Given the description of an element on the screen output the (x, y) to click on. 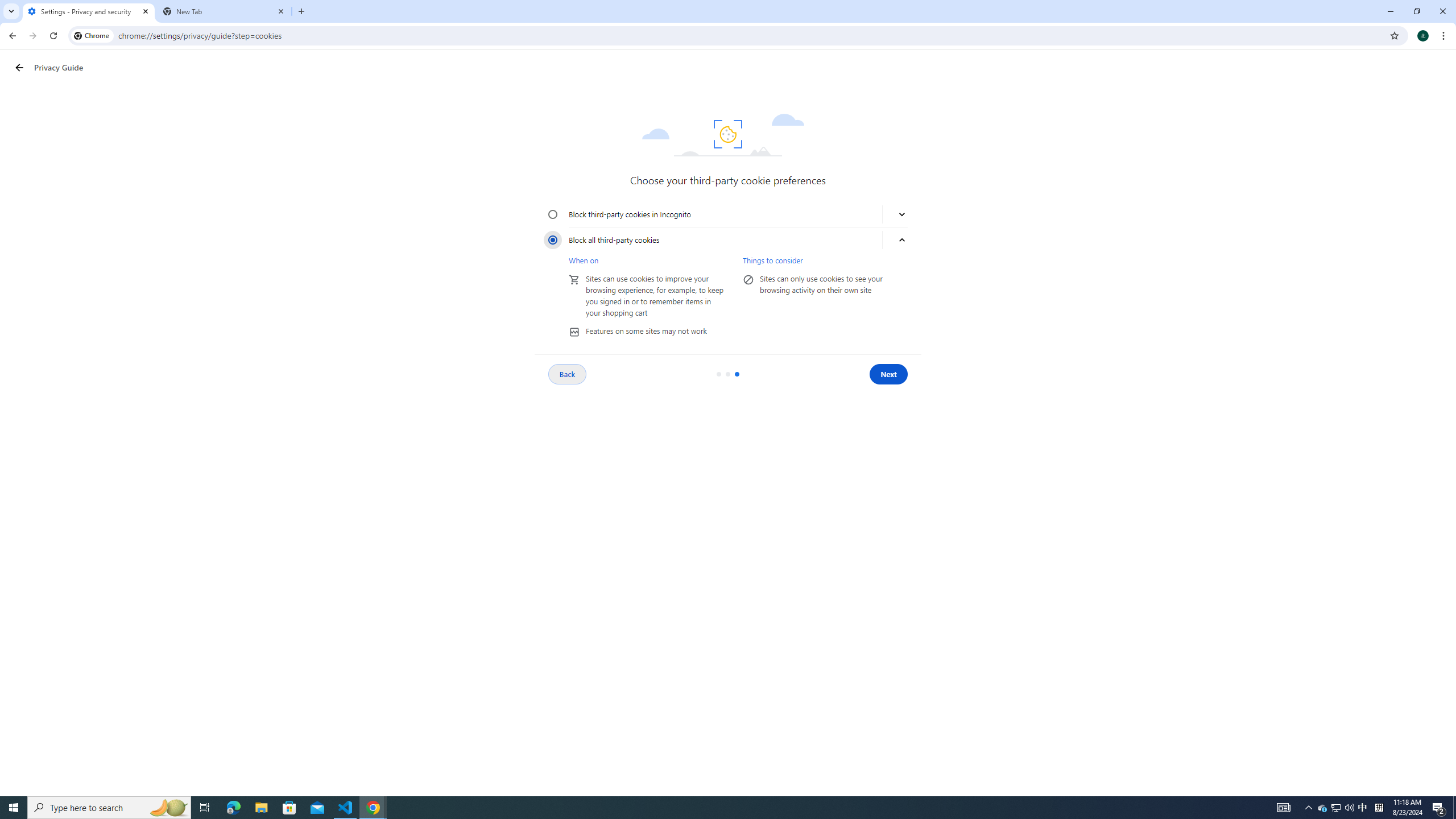
Block third-party cookies in Incognito (552, 214)
More about blocking third-party cookies (901, 240)
Settings - Privacy and security (88, 11)
